Given the description of an element on the screen output the (x, y) to click on. 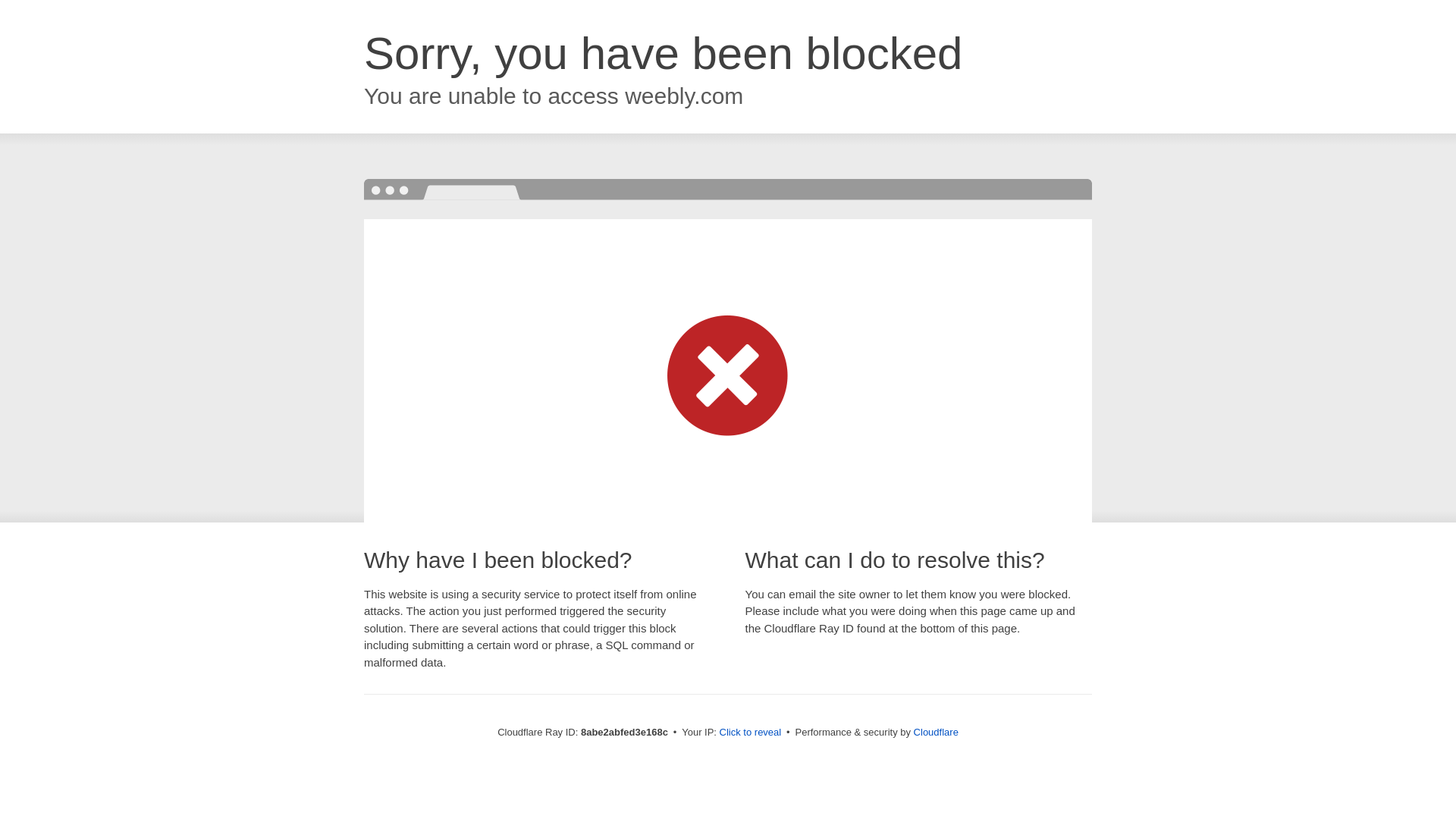
Click to reveal (750, 732)
Cloudflare (936, 731)
